Given the description of an element on the screen output the (x, y) to click on. 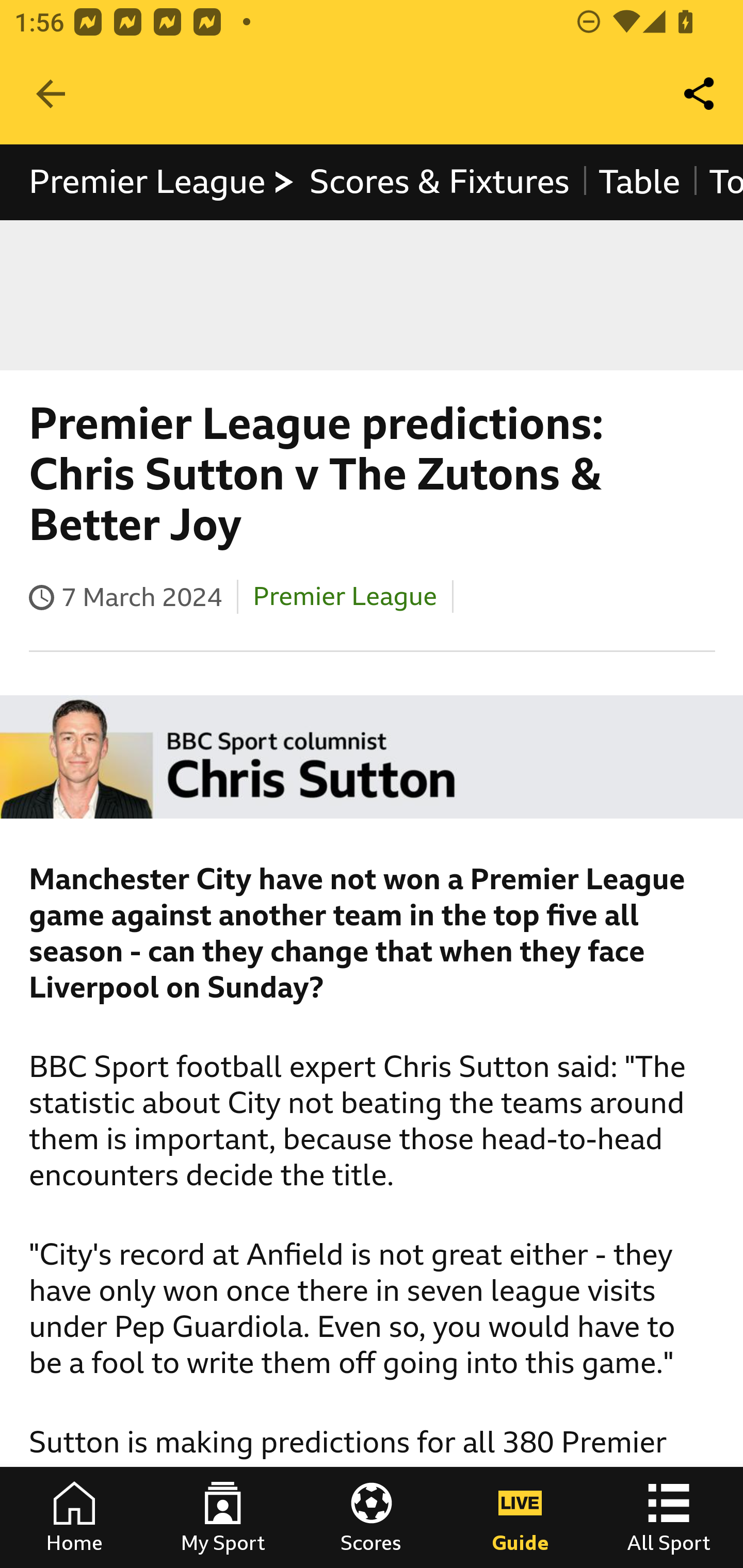
Navigate up (50, 93)
Premier League  (162, 181)
Scores & Fixtures (439, 181)
Table (638, 181)
Premier League (345, 596)
Home (74, 1517)
My Sport (222, 1517)
Scores (371, 1517)
All Sport (668, 1517)
